Given the description of an element on the screen output the (x, y) to click on. 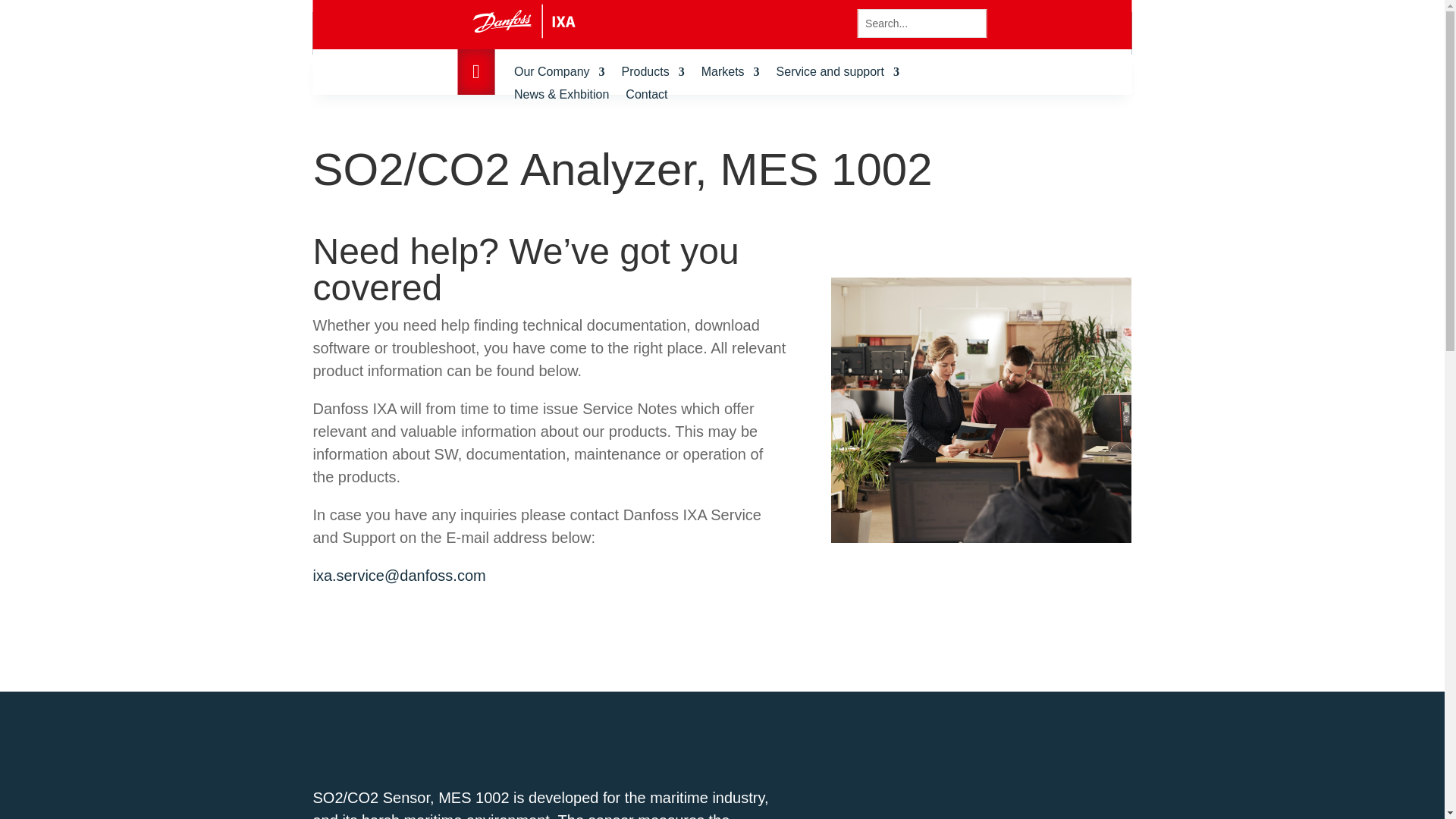
Search (24, 13)
Service and support (837, 74)
Markets (730, 74)
Products (652, 74)
Our Company (559, 74)
Contact (646, 97)
